Given the description of an element on the screen output the (x, y) to click on. 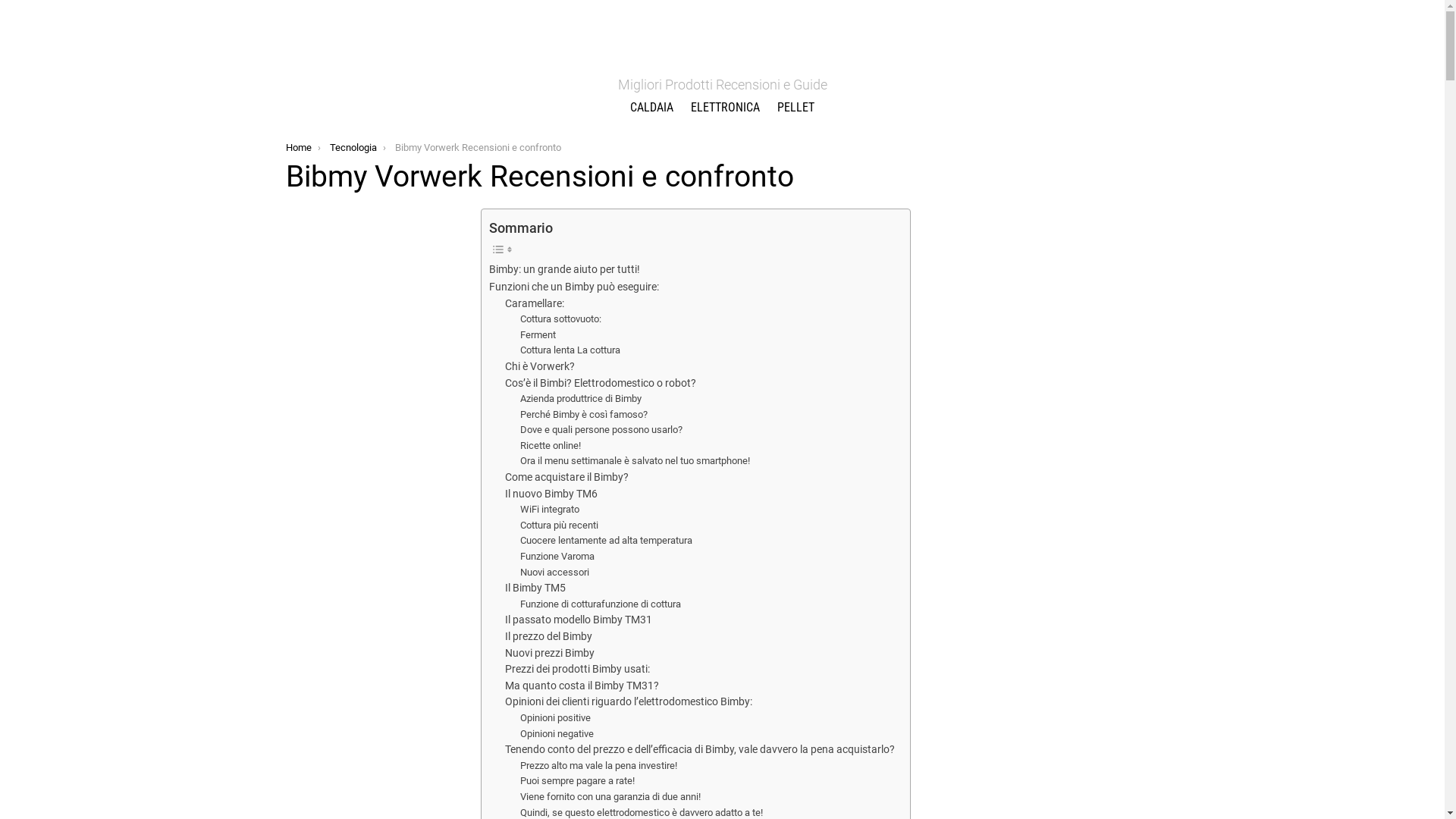
Dove e quali persone possono usarlo? Element type: text (601, 430)
Ferment Element type: text (537, 335)
Funzione Varoma Element type: text (557, 556)
Funzione di cotturafunzione di cottura Element type: text (600, 604)
Come acquistare il Bimby? Element type: text (566, 477)
Il Bimby TM5 Element type: text (535, 588)
Nuovi accessori Element type: text (554, 572)
Opinioni positive Element type: text (555, 718)
Ma quanto costa il Bimby TM31? Element type: text (581, 685)
Prezzo alto ma vale la pena investire! Element type: text (598, 766)
Il nuovo Bimby TM6 Element type: text (551, 494)
Cottura sottovuoto: Element type: text (560, 319)
Cottura lenta La cottura Element type: text (570, 350)
CALDAIA Element type: text (651, 107)
Ricette online! Element type: text (550, 446)
PELLET Element type: text (795, 107)
Puoi sempre pagare a rate! Element type: text (577, 781)
Viene fornito con una garanzia di due anni! Element type: text (610, 797)
Prezzi dei prodotti Bimby usati: Element type: text (577, 669)
WiFi integrato Element type: text (549, 509)
Caramellare: Element type: text (534, 303)
Nuovi prezzi Bimby Element type: text (549, 653)
Tecnologia Element type: text (352, 147)
Bimby: un grande aiuto per tutti! Element type: text (563, 269)
ELETTRONICA Element type: text (725, 107)
Home Element type: text (297, 147)
Il passato modello Bimby TM31 Element type: text (578, 619)
Cuocere lentamente ad alta temperatura Element type: text (606, 541)
Opinioni negative Element type: text (556, 734)
Azienda produttrice di Bimby Element type: text (580, 399)
Il prezzo del Bimby Element type: text (548, 636)
